Given the description of an element on the screen output the (x, y) to click on. 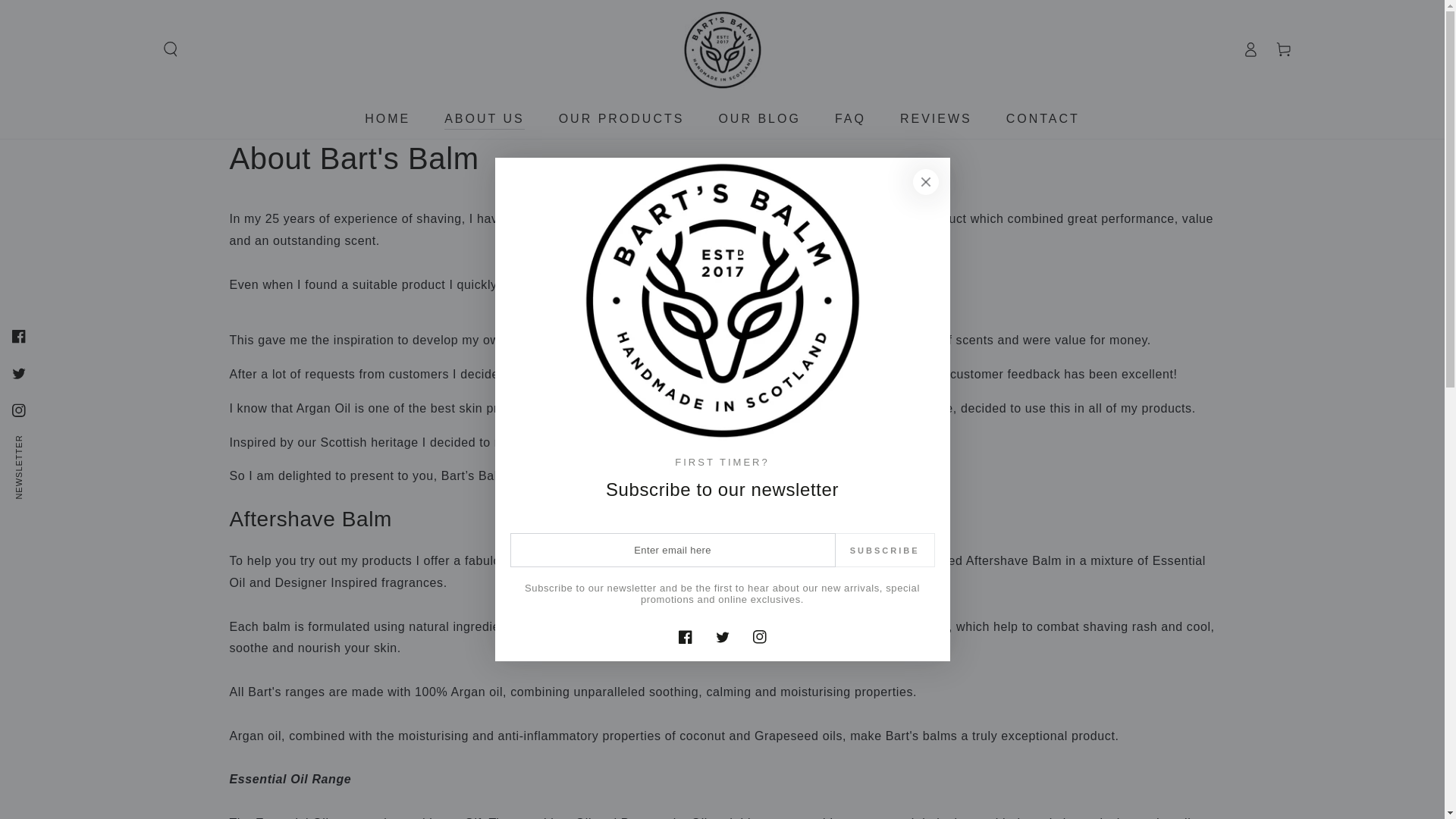
REVIEWS (936, 118)
ABOUT US (483, 118)
OUR BLOG (758, 118)
FAQ (850, 118)
HOME (387, 118)
SKIP TO CONTENT (67, 14)
CONTACT (1042, 118)
Log in (1249, 49)
